Given the description of an element on the screen output the (x, y) to click on. 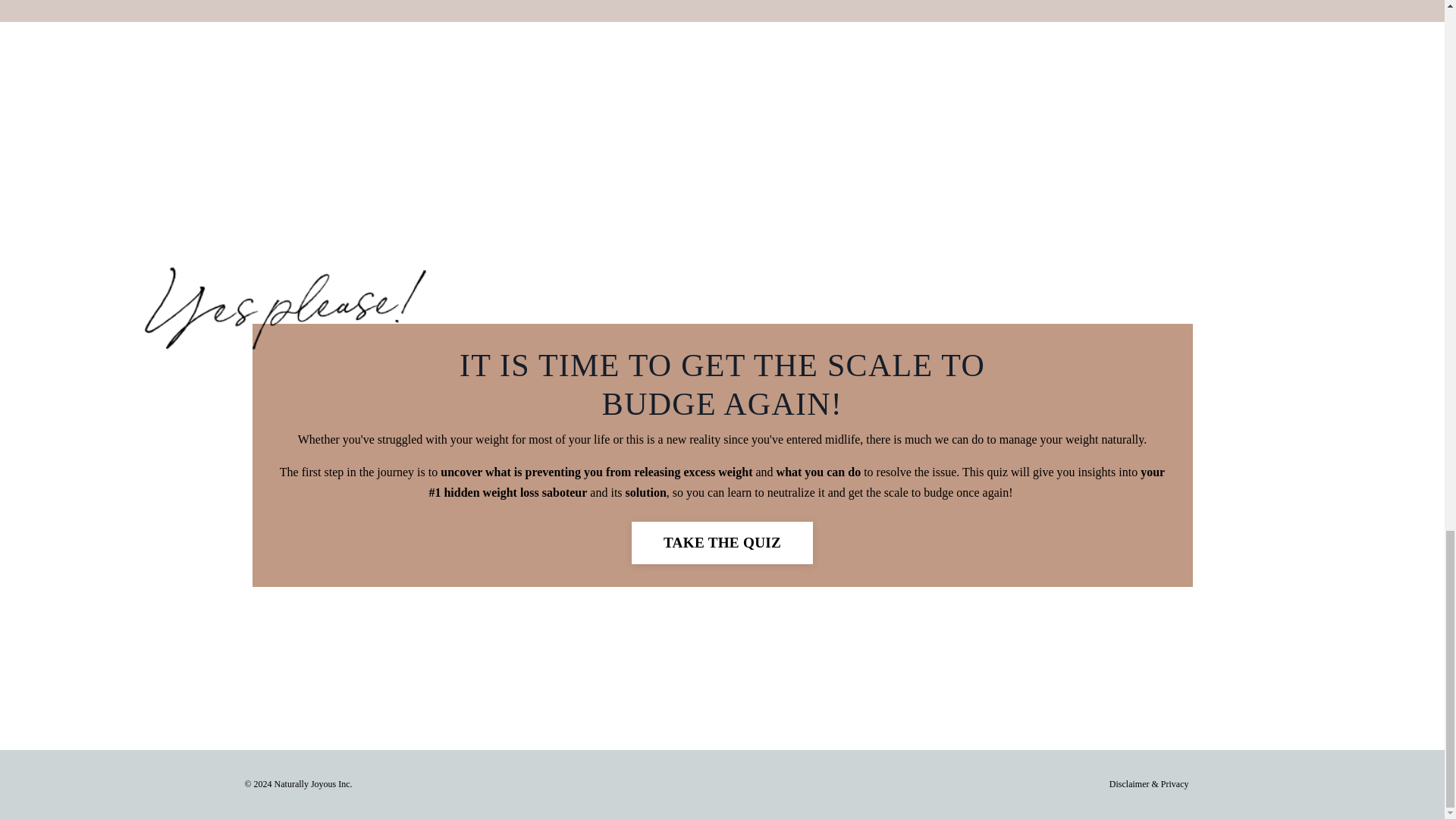
TAKE THE QUIZ (721, 543)
